Given the description of an element on the screen output the (x, y) to click on. 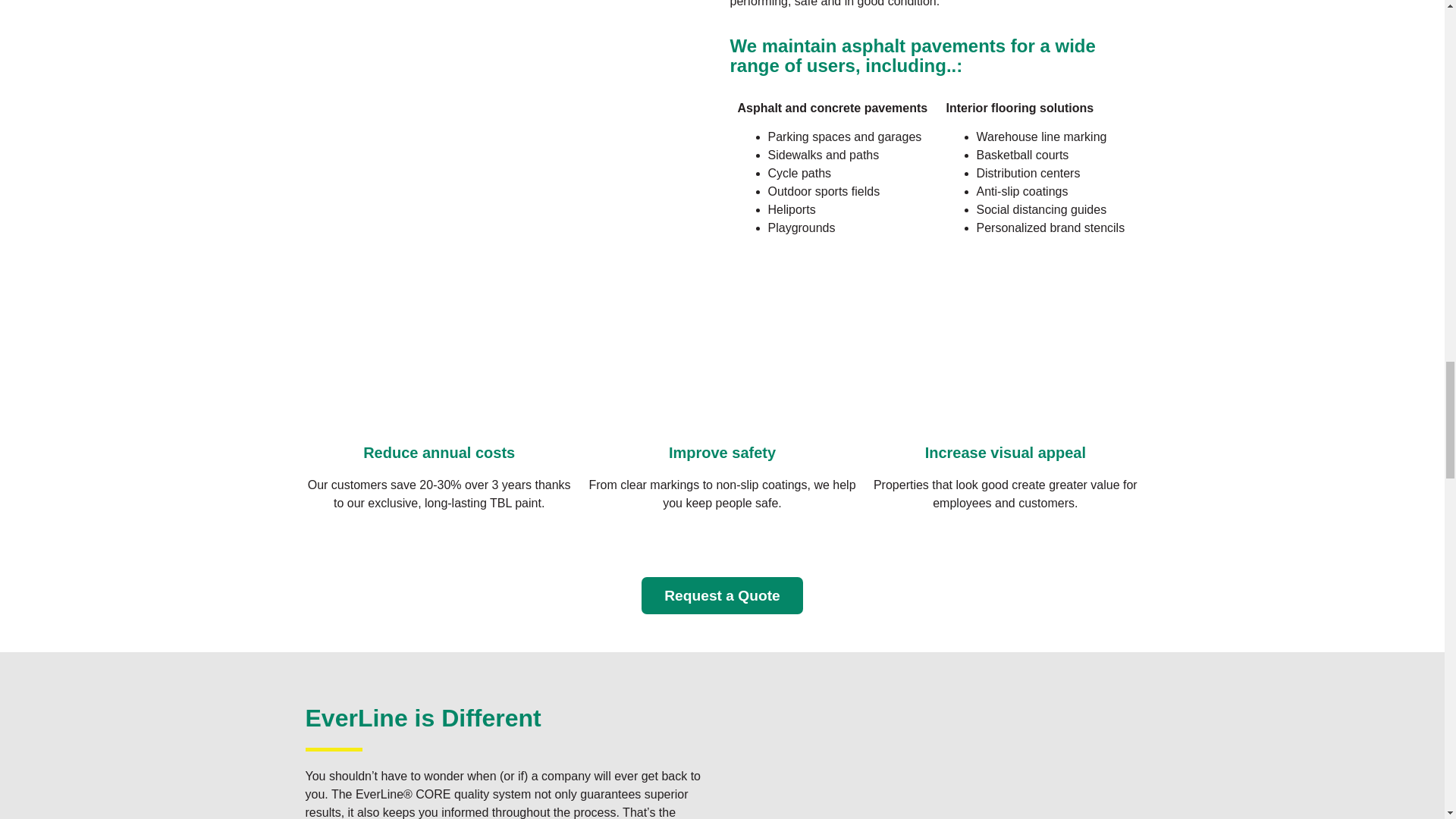
icone-augmenter-attractivite-visuelle (1005, 367)
icone-ameliorer-securite (721, 367)
icone-reduire-couts-annuels (438, 367)
Request a Quote (722, 595)
